Given the description of an element on the screen output the (x, y) to click on. 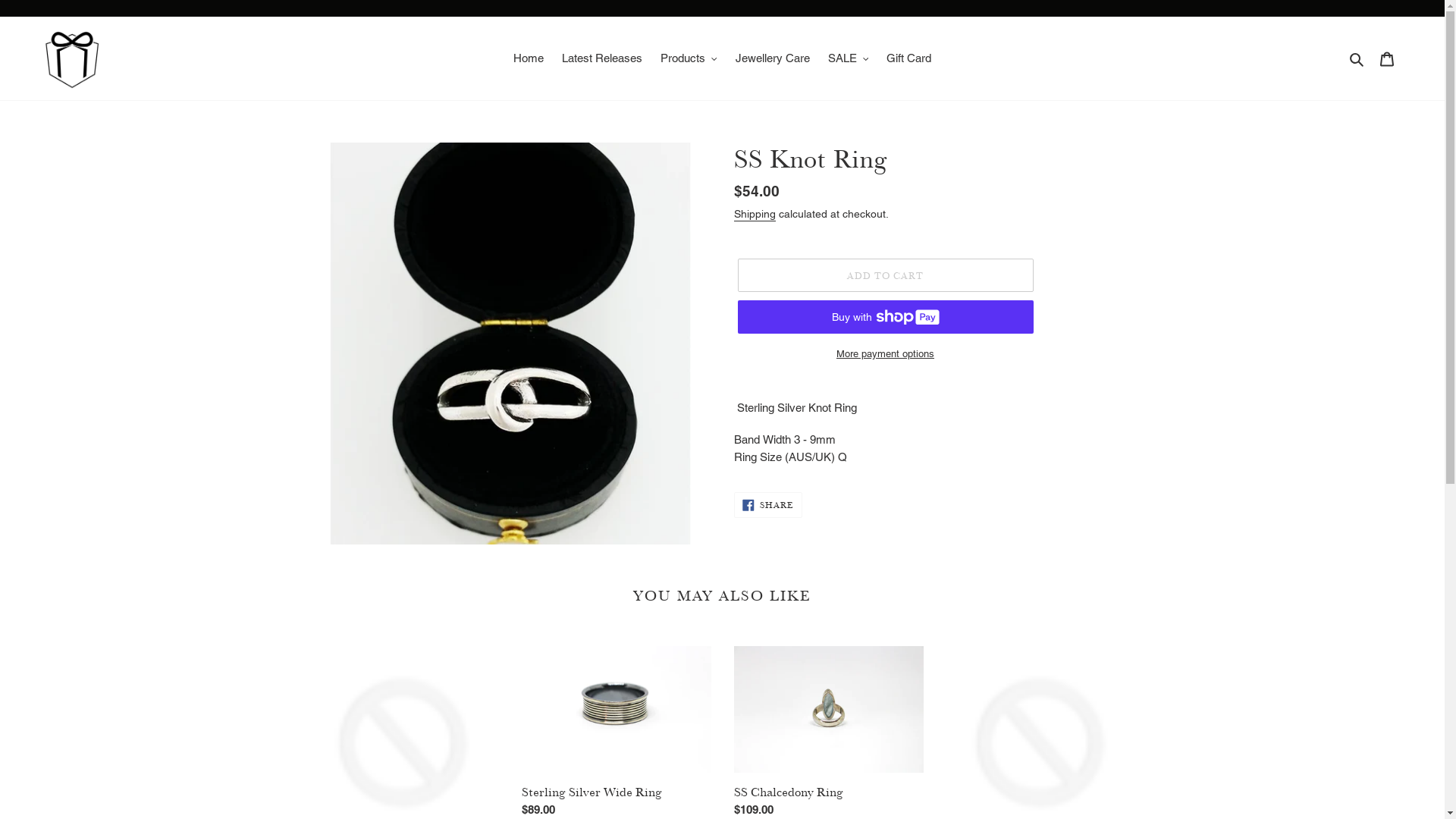
Gift Card Element type: text (908, 58)
Home Element type: text (528, 58)
More payment options Element type: text (884, 353)
SHARE
SHARE ON FACEBOOK Element type: text (768, 504)
Jewellery Care Element type: text (772, 58)
SALE Element type: text (848, 58)
Products Element type: text (688, 58)
Search Element type: text (1357, 58)
Latest Releases Element type: text (601, 58)
ADD TO CART Element type: text (884, 275)
Cart Element type: text (1386, 58)
Shipping Element type: text (754, 215)
